Given the description of an element on the screen output the (x, y) to click on. 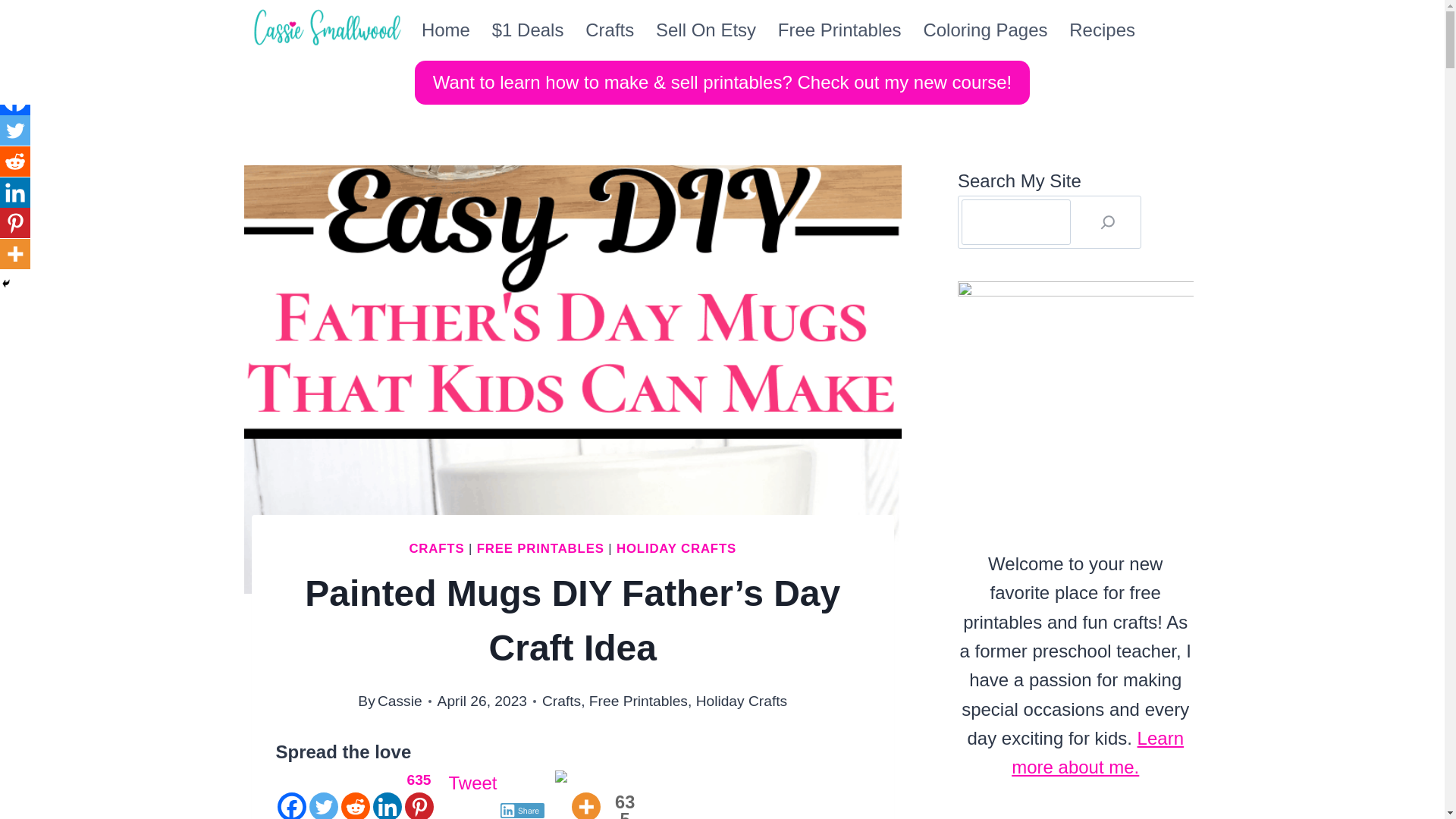
Reddit (15, 161)
Sell On Etsy (706, 29)
Total Shares (624, 806)
FREE PRINTABLES (540, 548)
CRAFTS (436, 548)
Home (445, 29)
Share (522, 810)
Crafts (560, 700)
Free Printables (638, 700)
Linkedin (15, 192)
